Given the description of an element on the screen output the (x, y) to click on. 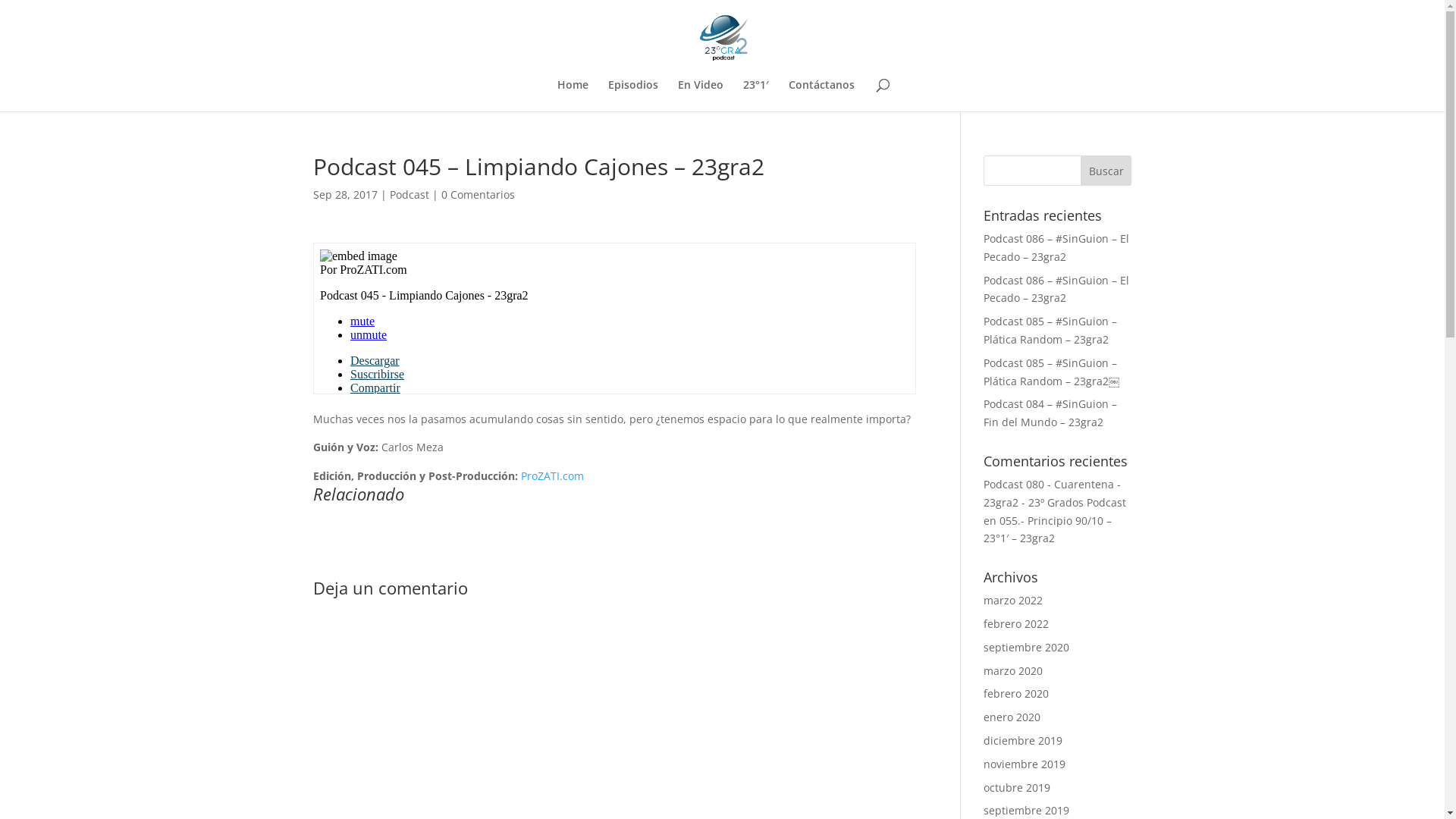
Episodios Element type: text (633, 95)
Buscar Element type: text (1106, 170)
febrero 2022 Element type: text (1015, 623)
octubre 2019 Element type: text (1016, 787)
enero 2020 Element type: text (1011, 716)
marzo 2022 Element type: text (1012, 600)
septiembre 2020 Element type: text (1026, 647)
0 Comentarios Element type: text (477, 194)
septiembre 2019 Element type: text (1026, 810)
febrero 2020 Element type: text (1015, 693)
En Video Element type: text (700, 95)
noviembre 2019 Element type: text (1024, 763)
Podcast Element type: text (409, 194)
ProZATI.com Element type: text (551, 475)
marzo 2020 Element type: text (1012, 670)
Home Element type: text (571, 95)
diciembre 2019 Element type: text (1022, 740)
